Given the description of an element on the screen output the (x, y) to click on. 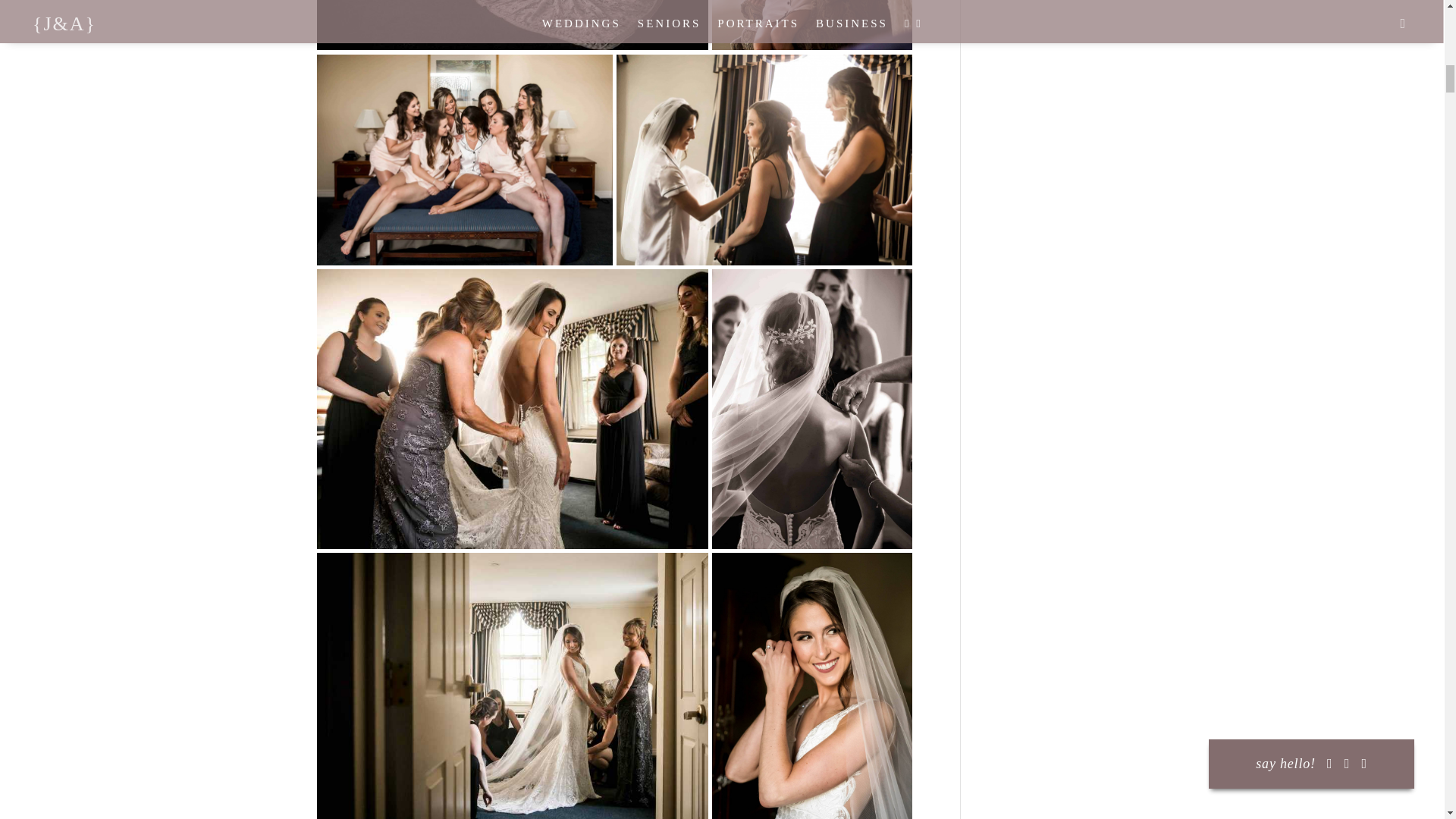
072719-013 (512, 25)
072719-025 (464, 159)
072719-017 (811, 25)
